Given the description of an element on the screen output the (x, y) to click on. 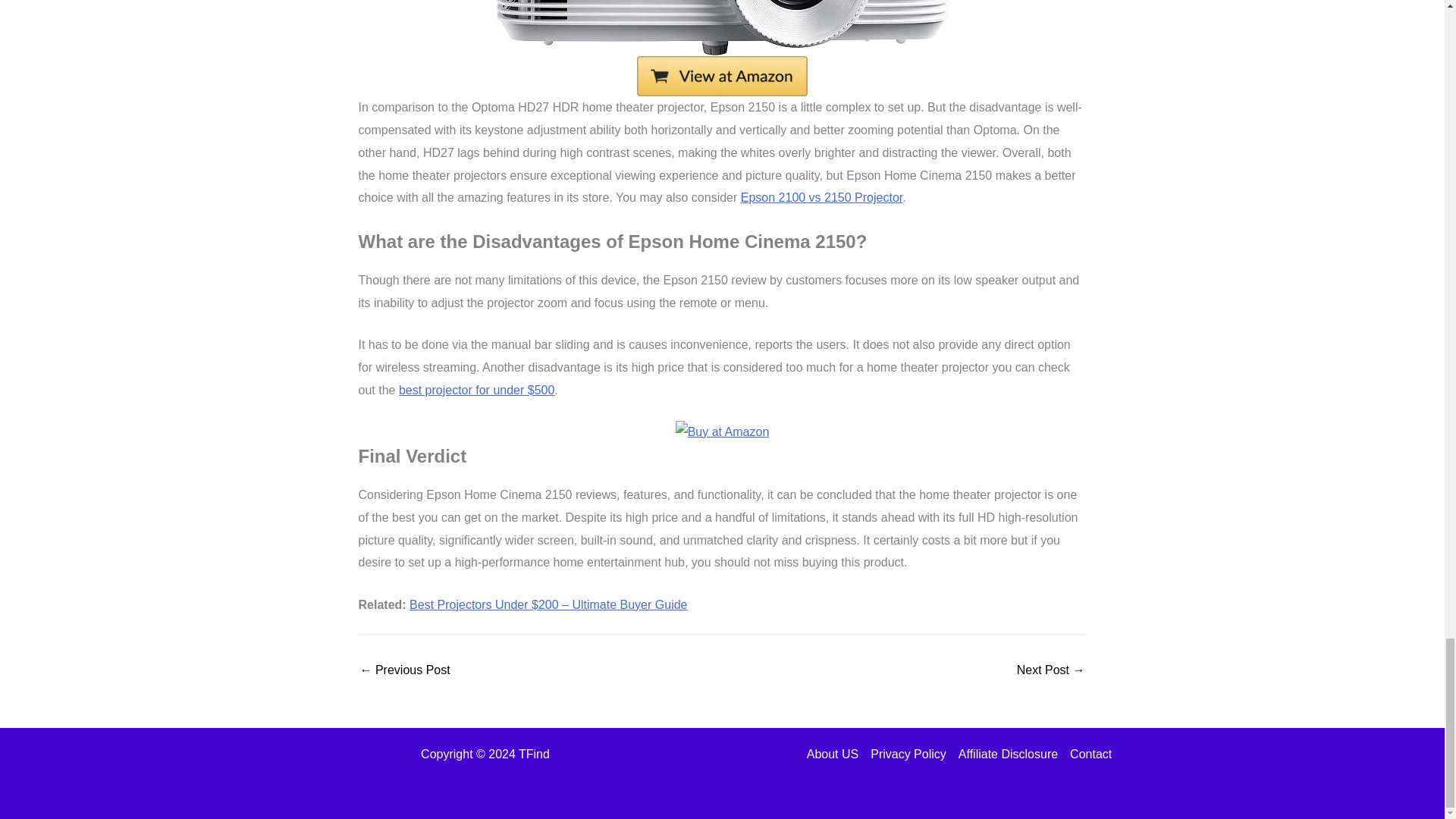
Privacy Policy (908, 753)
About US (835, 753)
Affiliate Disclosure (1008, 753)
Contact (1088, 753)
Epson 2100 vs 2150 Projector (821, 196)
Best Projector Under 1000 in 2023: Top 10 Of User Choice (1050, 670)
